Given the description of an element on the screen output the (x, y) to click on. 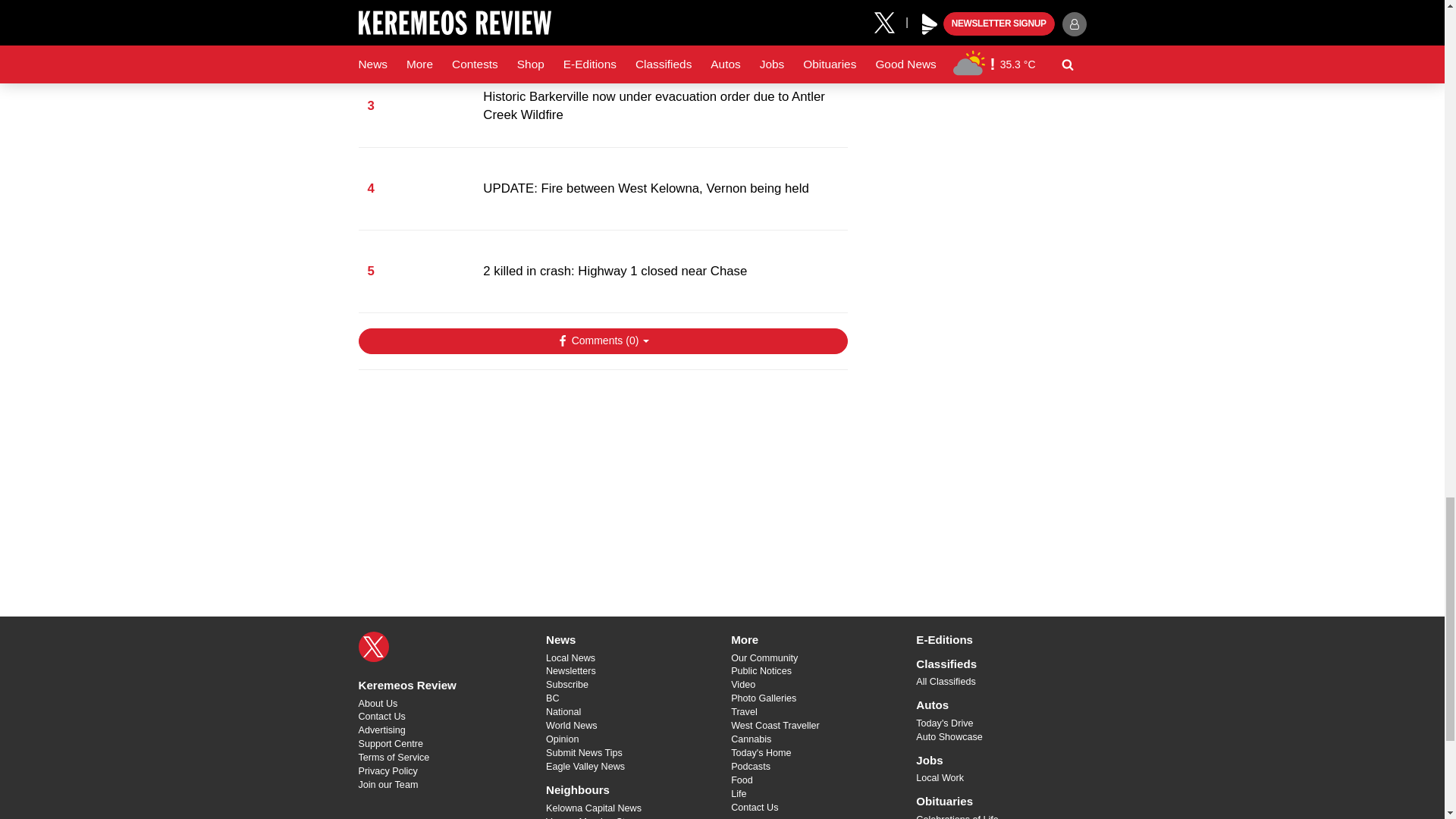
X (373, 646)
3rd party ad content (972, 37)
Show Comments (602, 340)
3rd party ad content (602, 479)
